Given the description of an element on the screen output the (x, y) to click on. 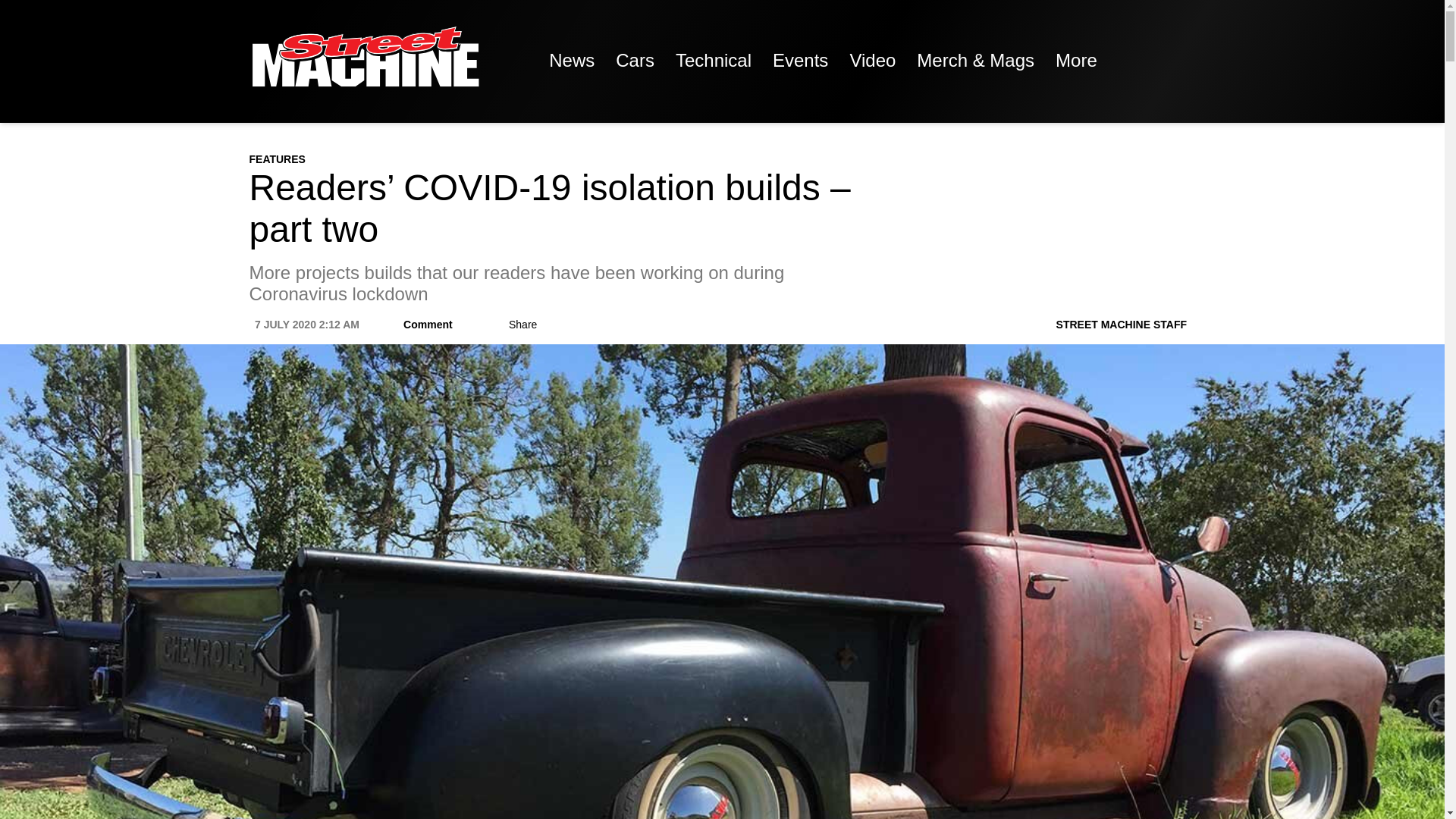
News (571, 61)
Cars (635, 61)
Technical (713, 61)
Video (871, 61)
Events (799, 61)
